Given the description of an element on the screen output the (x, y) to click on. 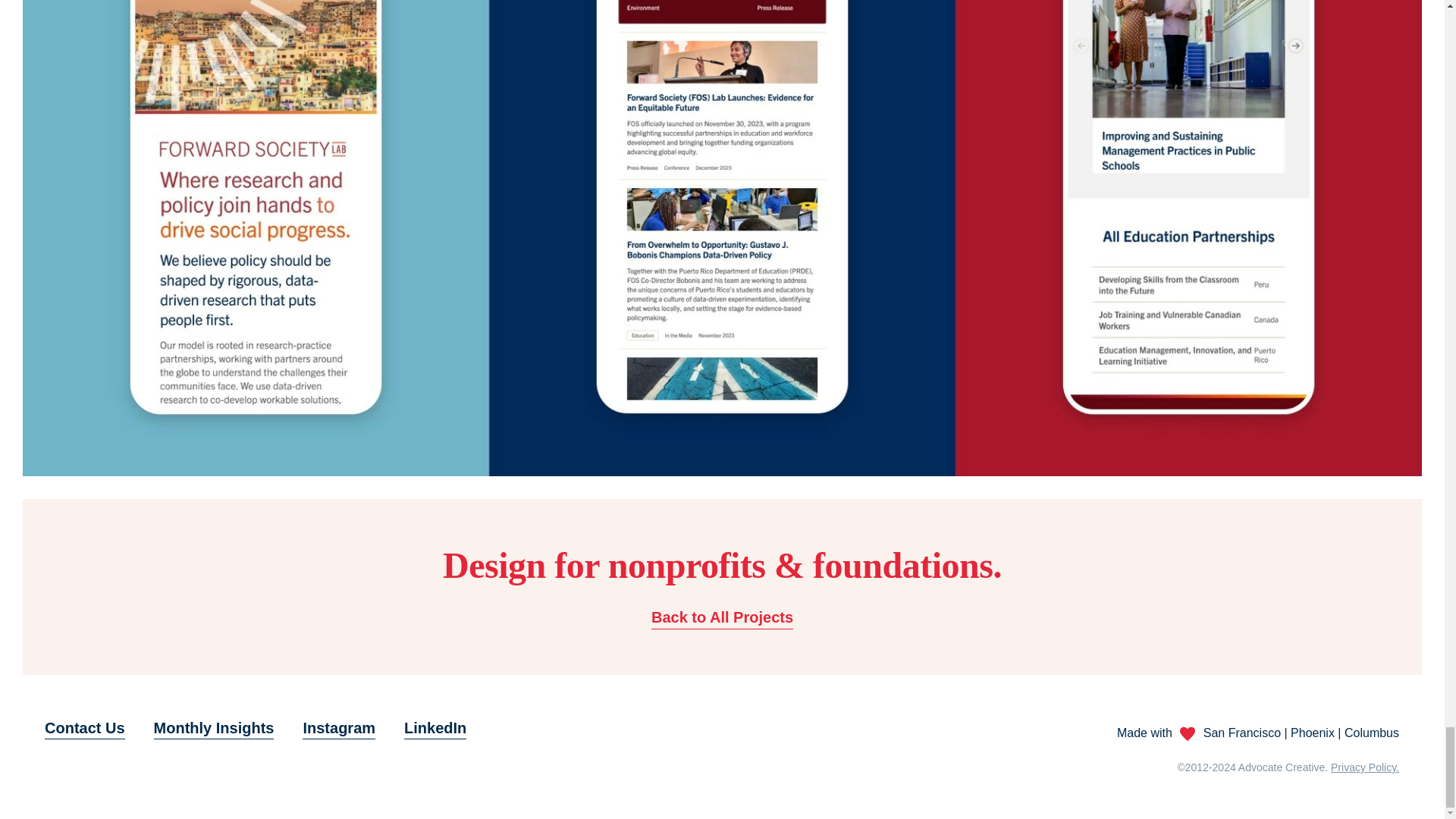
LinkedIn (434, 729)
Contact Us (85, 729)
Instagram (338, 729)
Privacy Policy. (1364, 767)
Back to All Projects (721, 619)
Monthly Insights (214, 729)
